Given the description of an element on the screen output the (x, y) to click on. 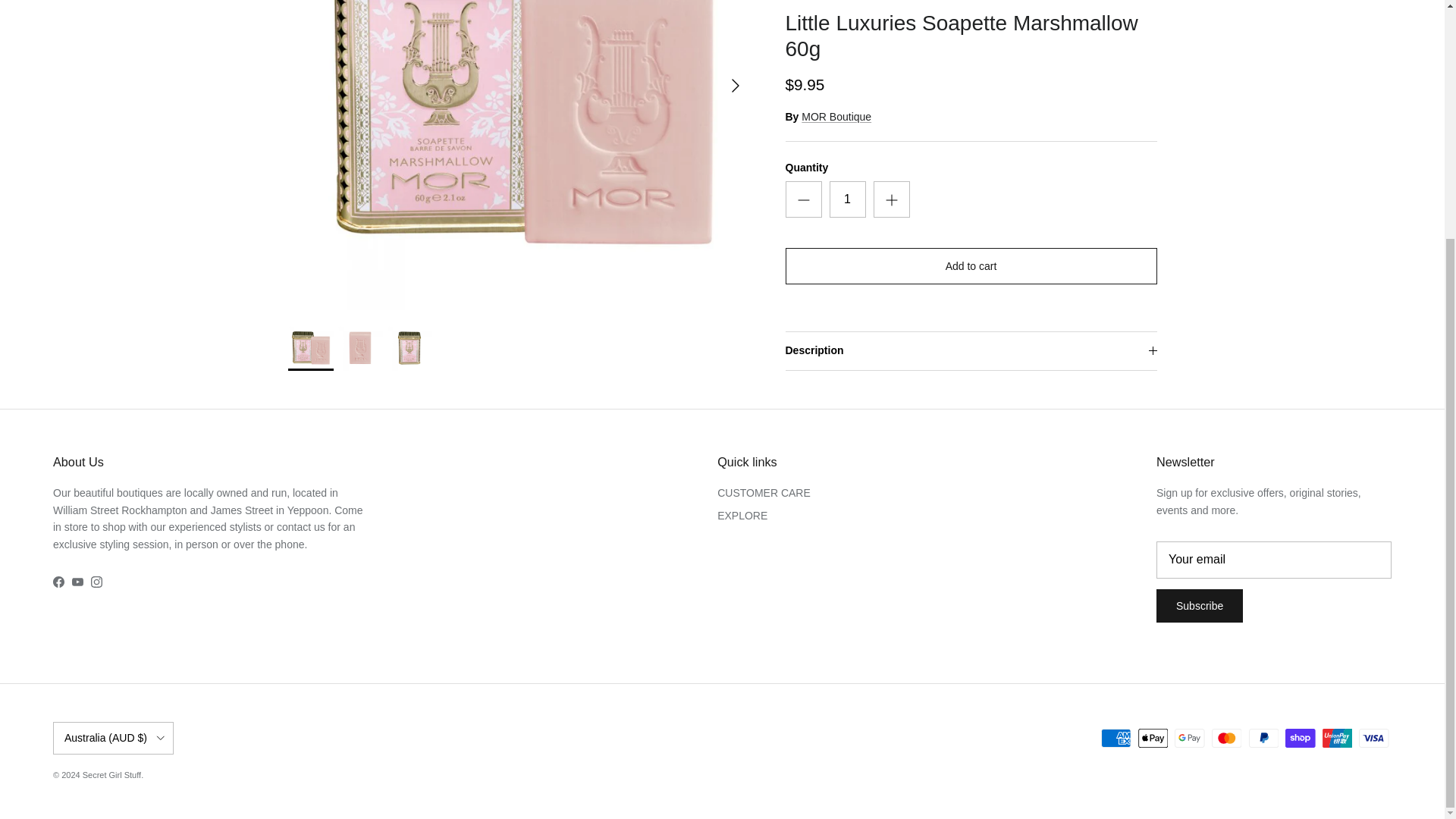
Secret Girl Stuff on Facebook (58, 582)
American Express (1115, 737)
Apple Pay (1152, 737)
PayPal (1262, 737)
Secret Girl Stuff on YouTube (76, 582)
Shop Pay (1299, 737)
Google Pay (1189, 737)
Union Pay (1337, 737)
Mastercard (1226, 737)
Secret Girl Stuff on Instagram (95, 582)
